Given the description of an element on the screen output the (x, y) to click on. 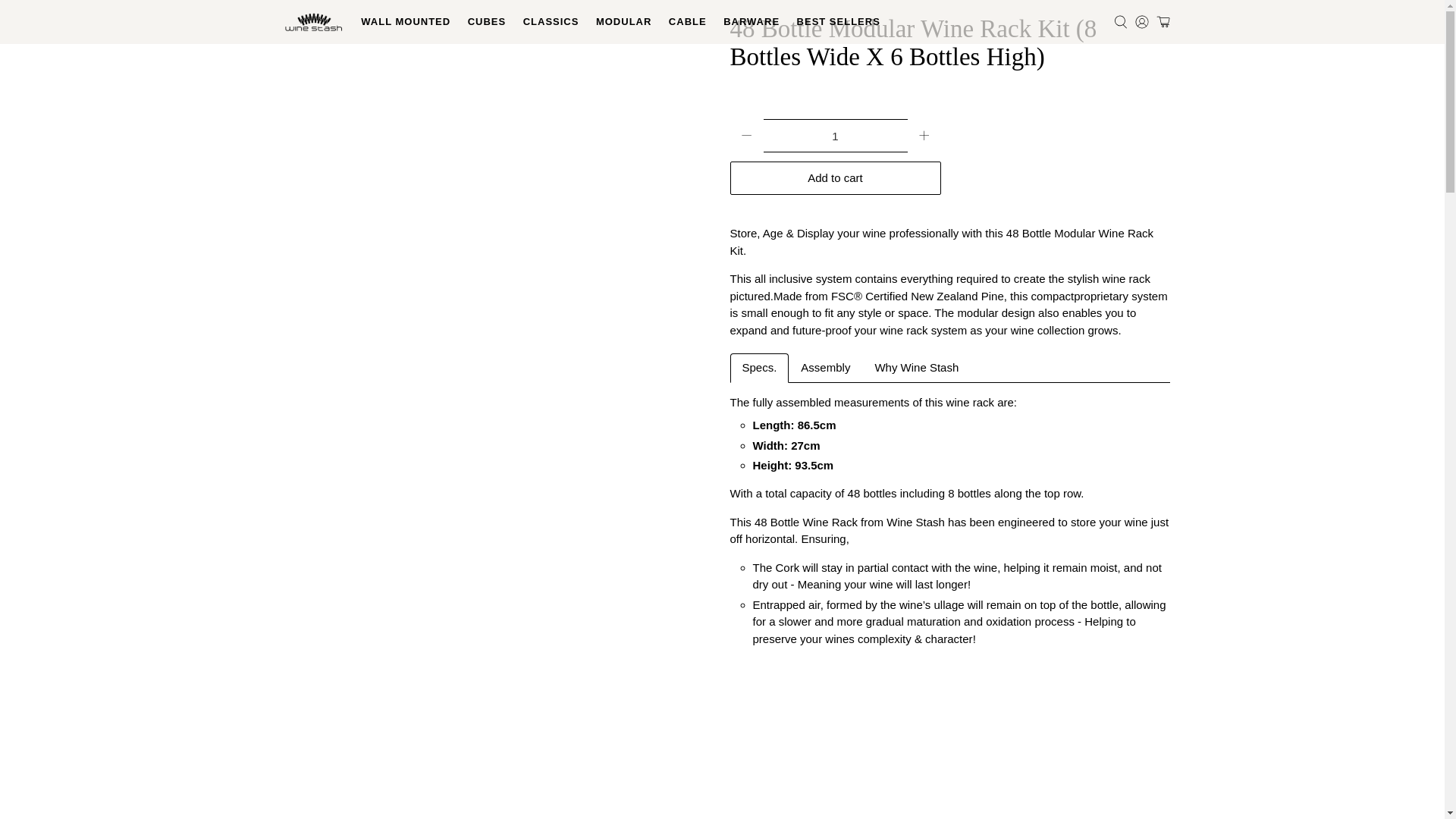
CABLE (687, 21)
MODULAR (624, 21)
CUBES (485, 21)
BEST SELLERS (837, 21)
1 (834, 135)
CLASSICS (549, 21)
Add to cart (834, 177)
Specs. (759, 368)
BARWARE (750, 21)
Why Wine Stash (916, 368)
Assembly (825, 368)
WALL MOUNTED (405, 21)
Wine Stash (313, 21)
